Given the description of an element on the screen output the (x, y) to click on. 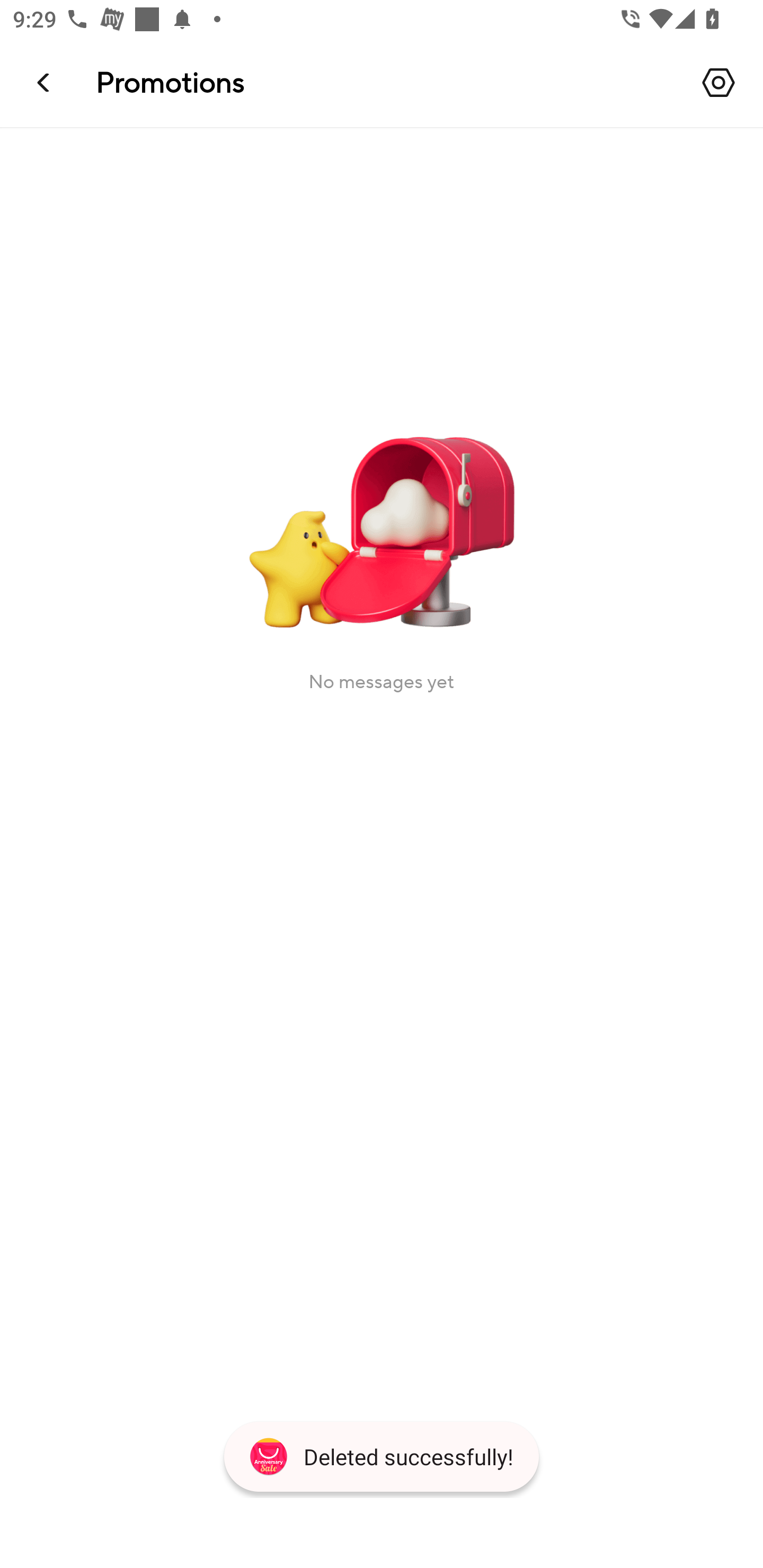
Navigate up (44, 82)
